Given the description of an element on the screen output the (x, y) to click on. 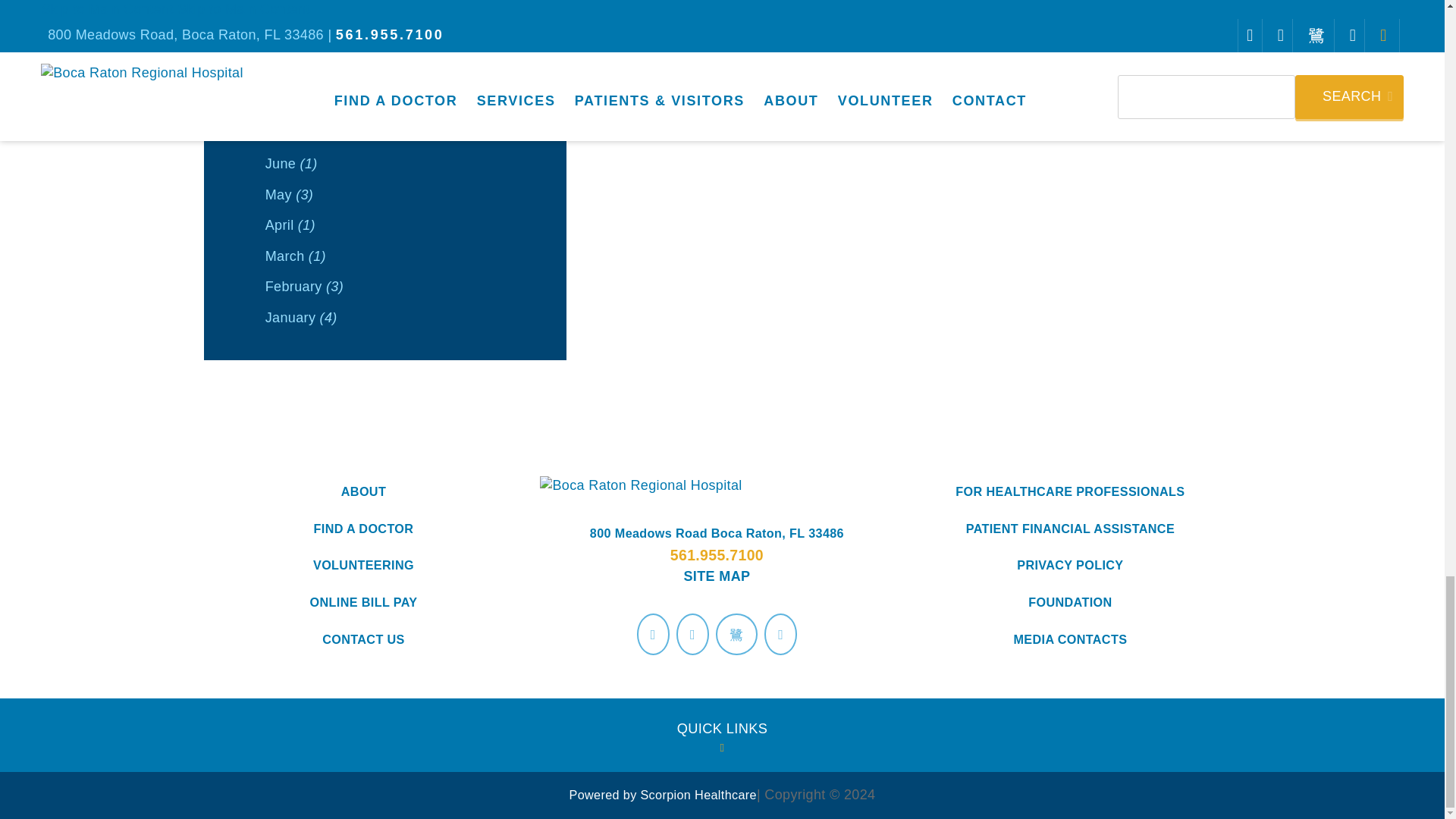
youtube-3 link (736, 633)
Boca Raton Regional Hospital (716, 485)
